Given the description of an element on the screen output the (x, y) to click on. 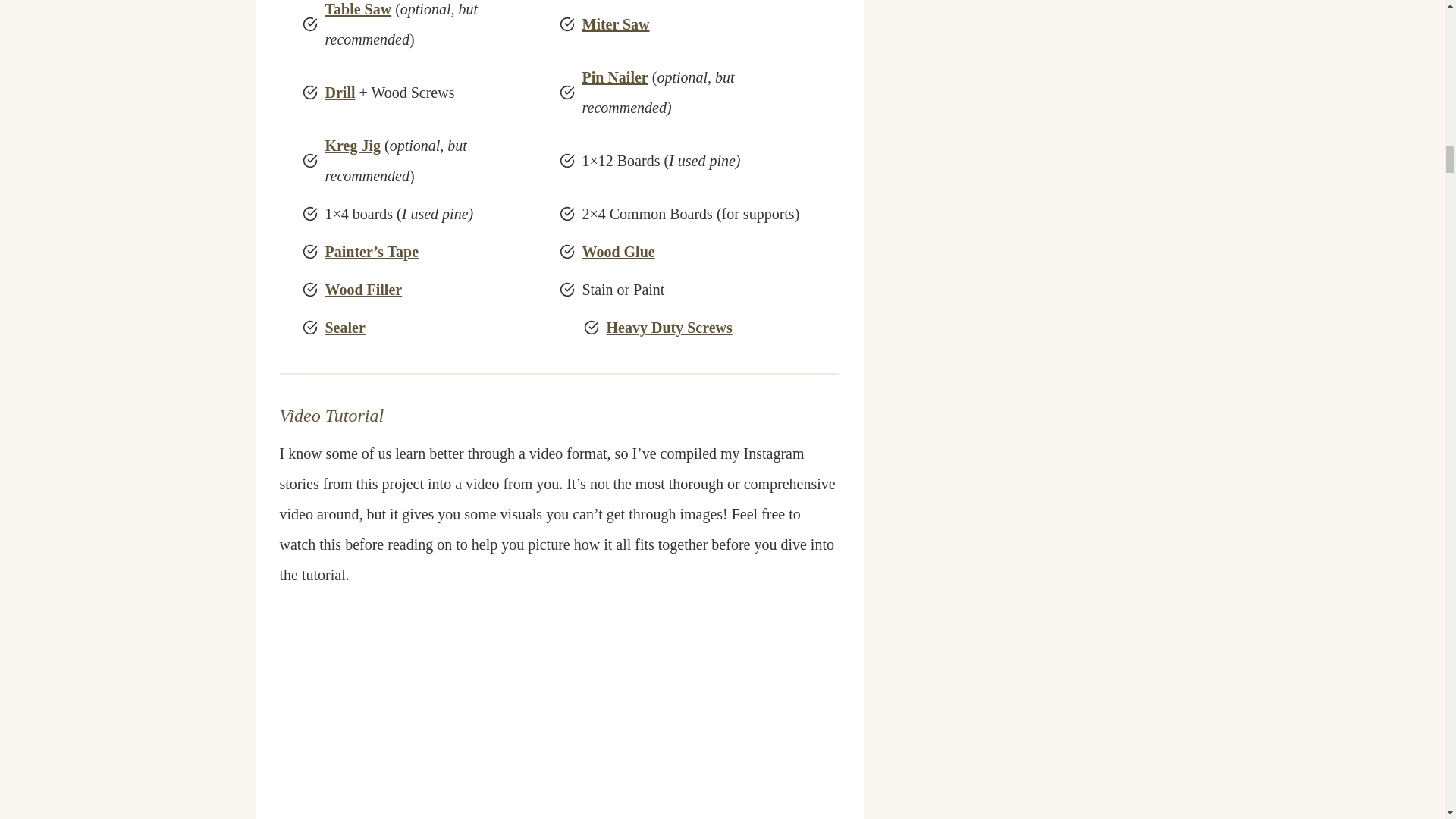
Miter Saw (615, 23)
Pin Nailer (614, 76)
Wood Filler (362, 289)
Kreg Jig (352, 145)
Wood Glue (618, 251)
Drill (339, 92)
Heavy Duty Screws (669, 327)
Table Saw (357, 8)
Sealer (344, 327)
